Given the description of an element on the screen output the (x, y) to click on. 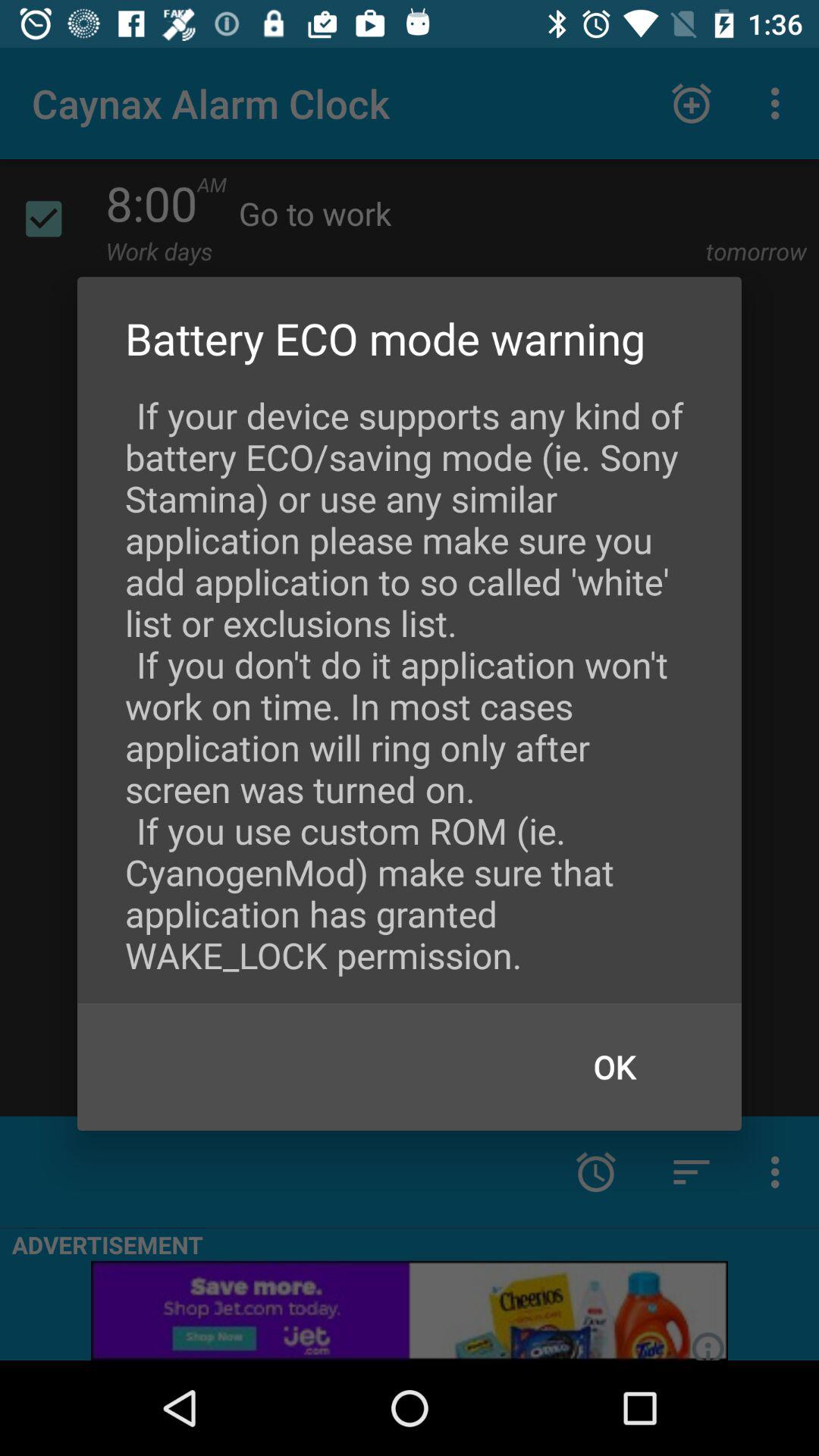
turn on icon below if your device (613, 1066)
